Given the description of an element on the screen output the (x, y) to click on. 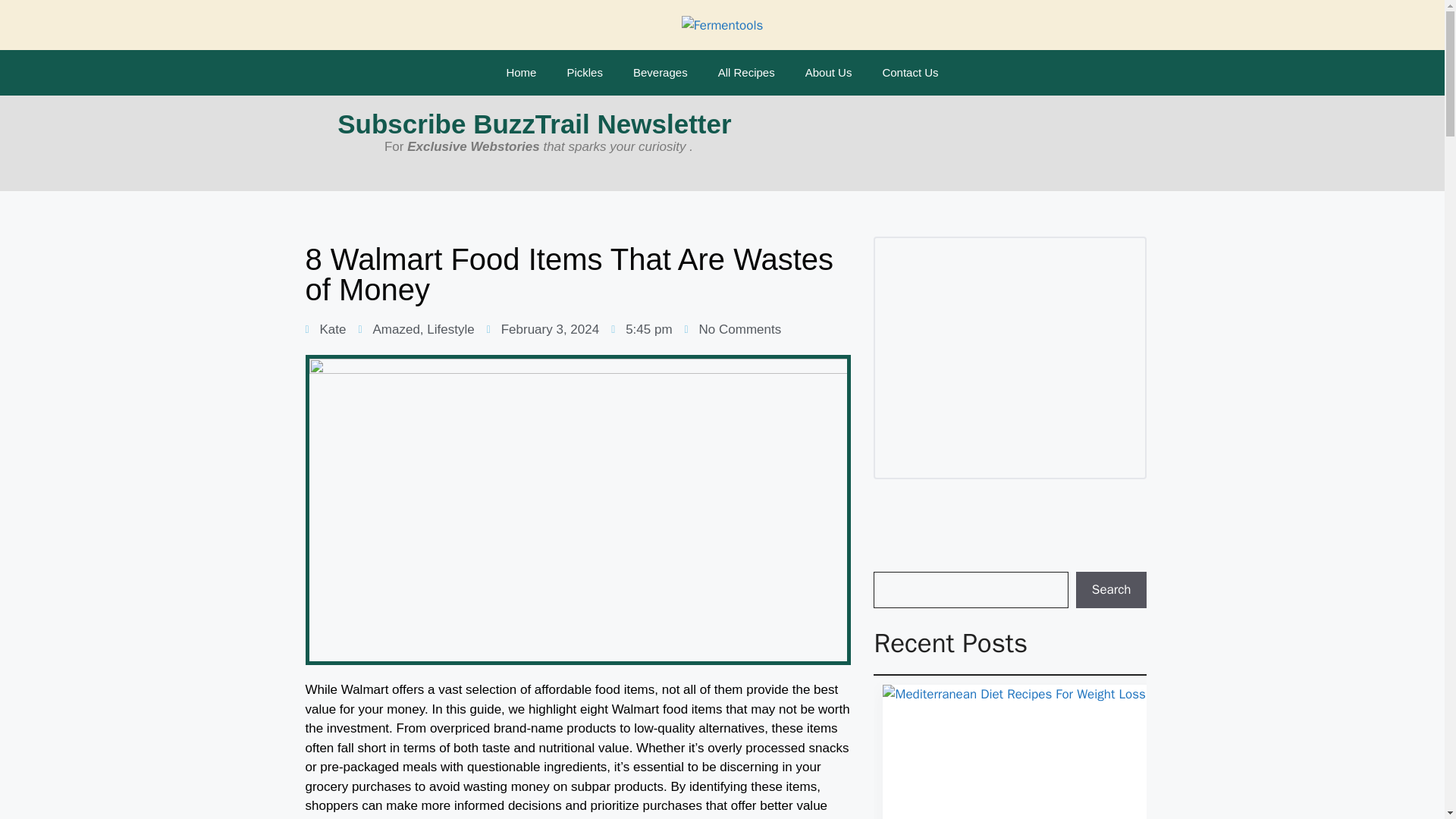
Pickles (584, 72)
Contact Us (909, 72)
No Comments (732, 329)
Beverages (660, 72)
Home (520, 72)
Lifestyle (450, 329)
All Recipes (746, 72)
About Us (828, 72)
Amazed (395, 329)
February 3, 2024 (542, 329)
